Given the description of an element on the screen output the (x, y) to click on. 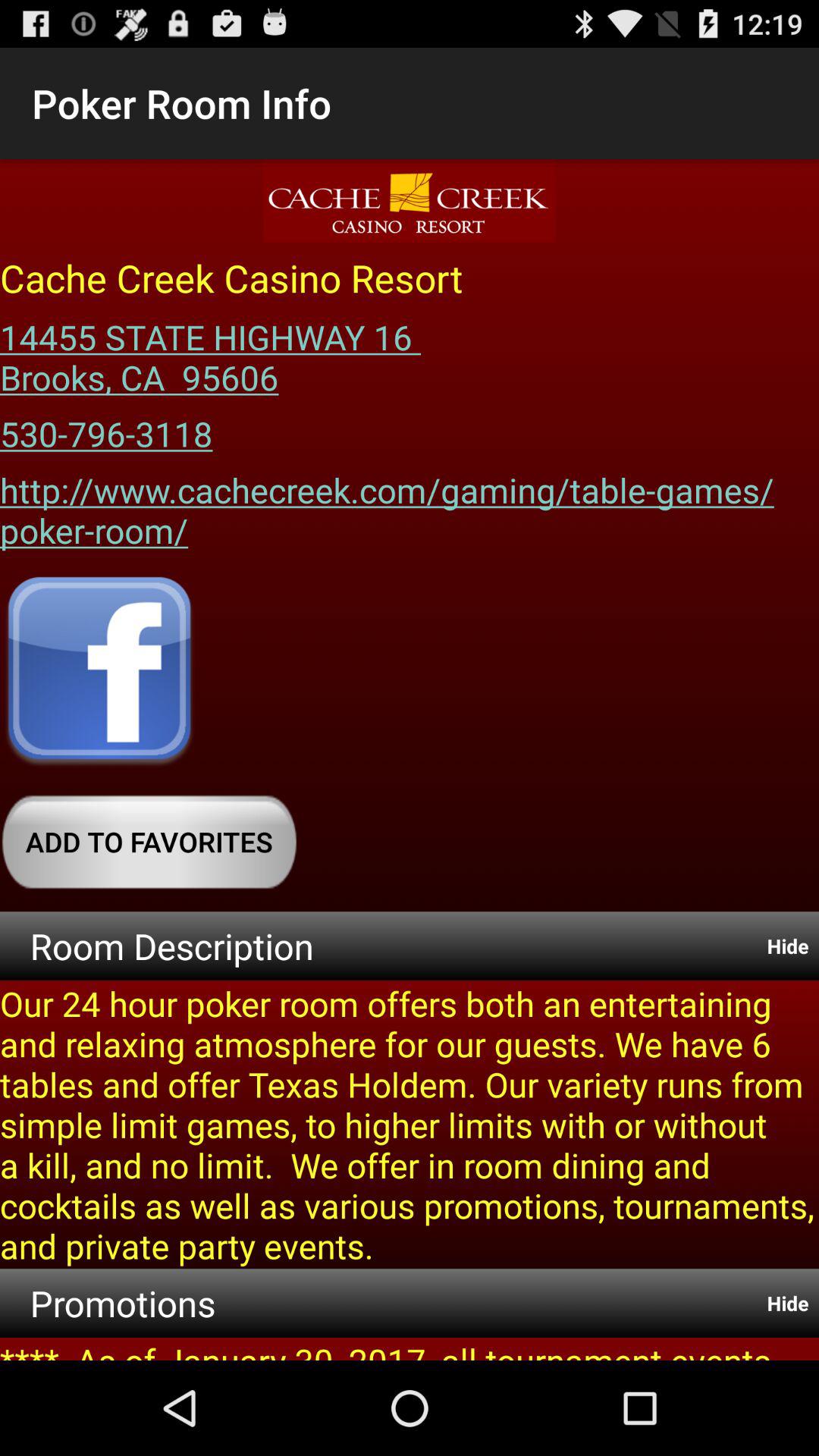
open facebook (99, 672)
